Given the description of an element on the screen output the (x, y) to click on. 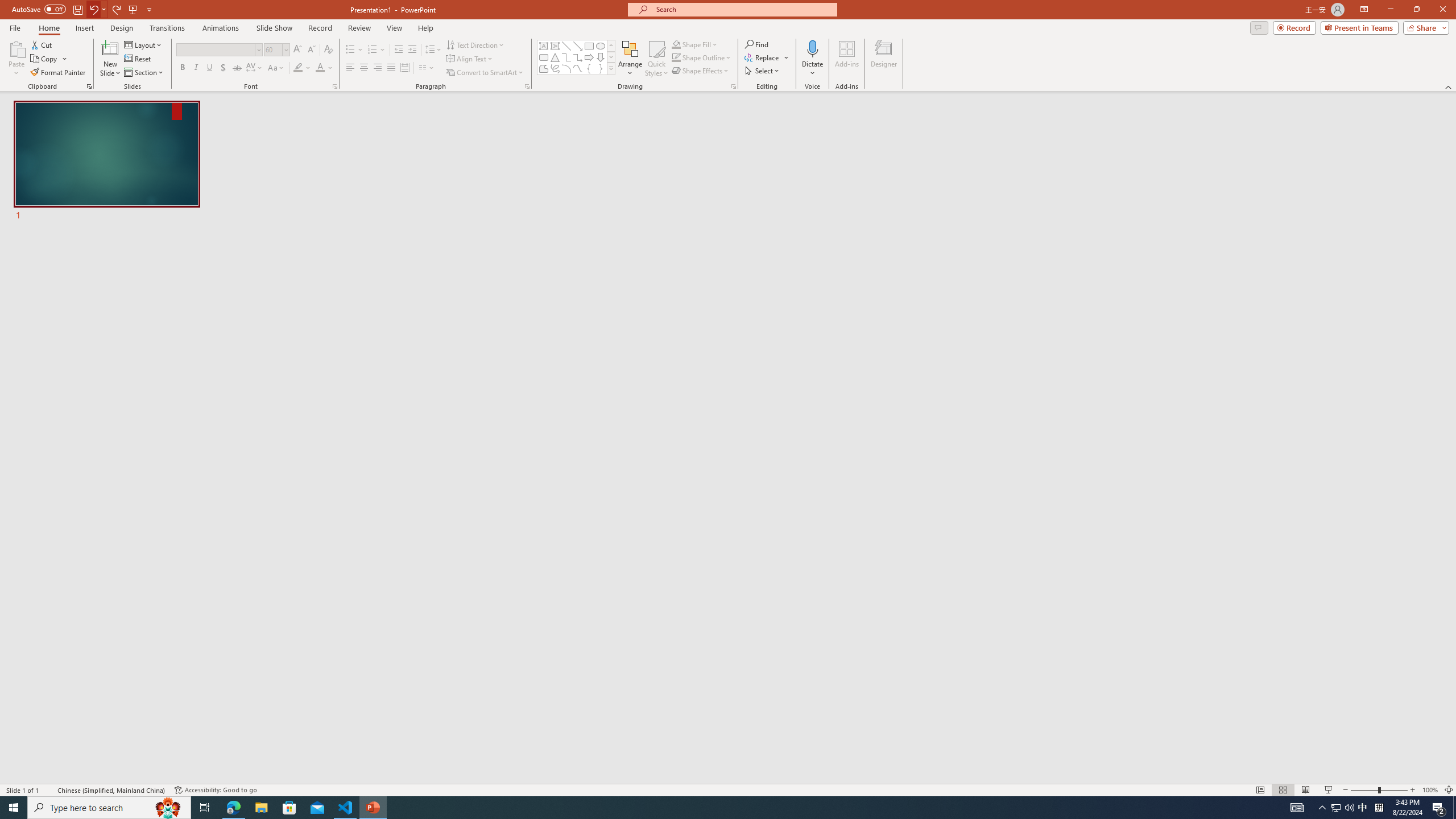
Shape Outline Blue, Accent 1 (675, 56)
